Given the description of an element on the screen output the (x, y) to click on. 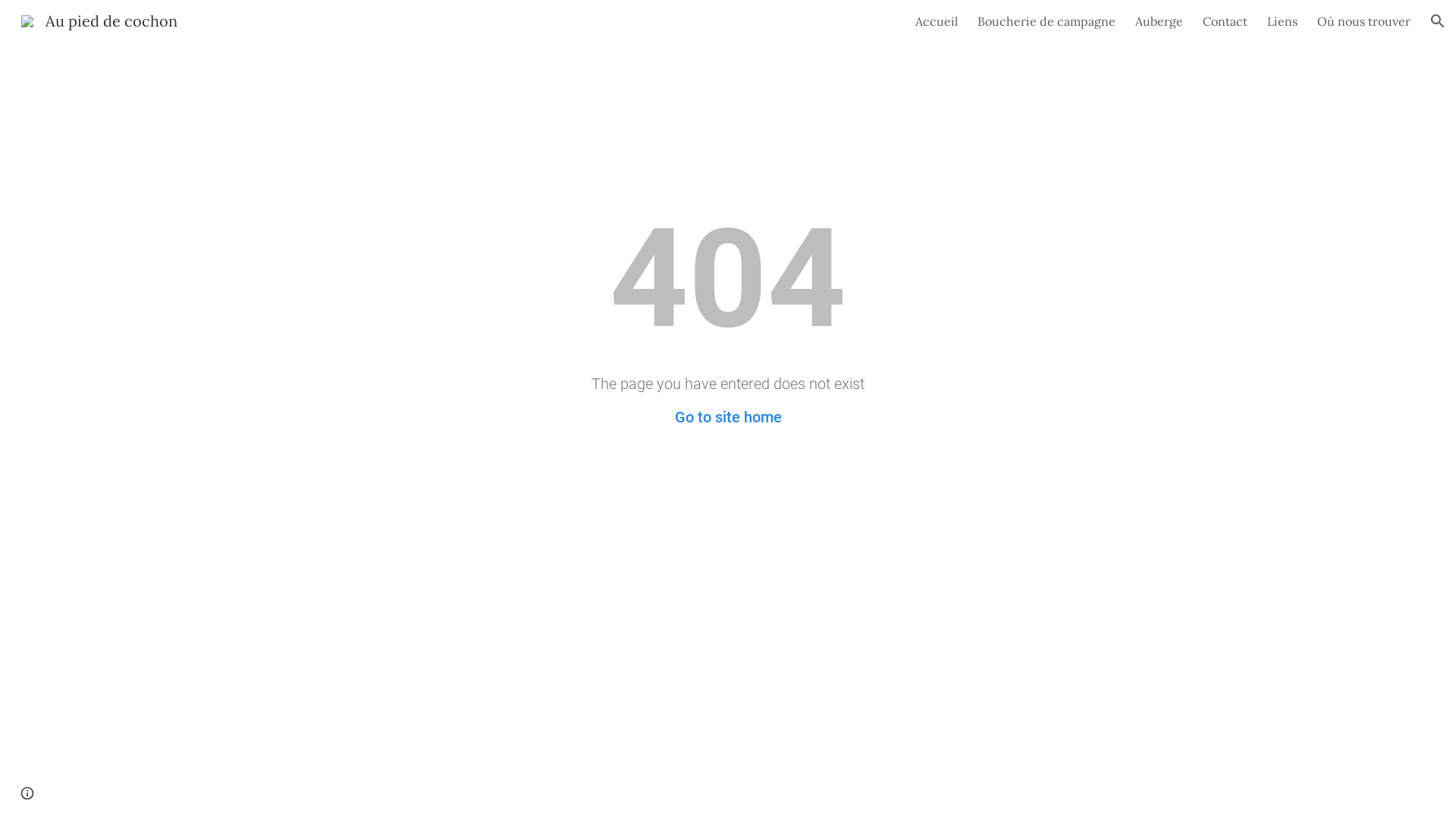
Liens Element type: text (1282, 20)
Auberge Element type: text (1159, 20)
Go to site home Element type: text (727, 416)
Au pied de cochon Element type: text (99, 18)
Contact Element type: text (1224, 20)
Boucherie de campagne Element type: text (1046, 20)
Accueil Element type: text (936, 20)
